Given the description of an element on the screen output the (x, y) to click on. 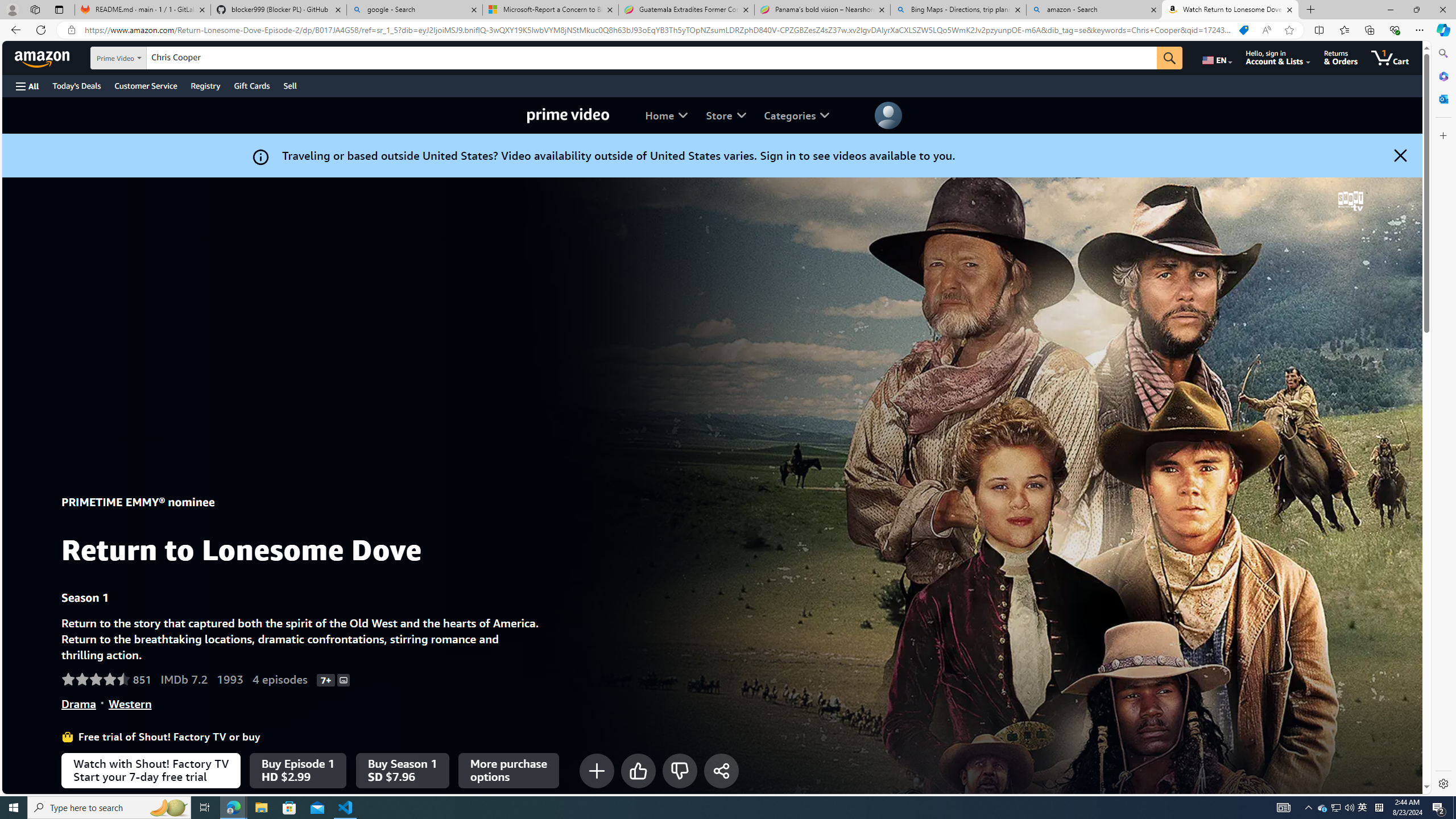
Hello, sign in Account & Lists (1278, 57)
Add to Watchlist (596, 769)
Buy Episode 1 HD $2.99 (297, 769)
Open Menu (26, 86)
Watch with Shout! Factory TV Start your 7-day free trial (151, 769)
Like (637, 769)
Customer Service (145, 85)
Channel logo (1350, 200)
Watch Return to Lonesome Dove Season 1 | Prime Video (1230, 9)
